Given the description of an element on the screen output the (x, y) to click on. 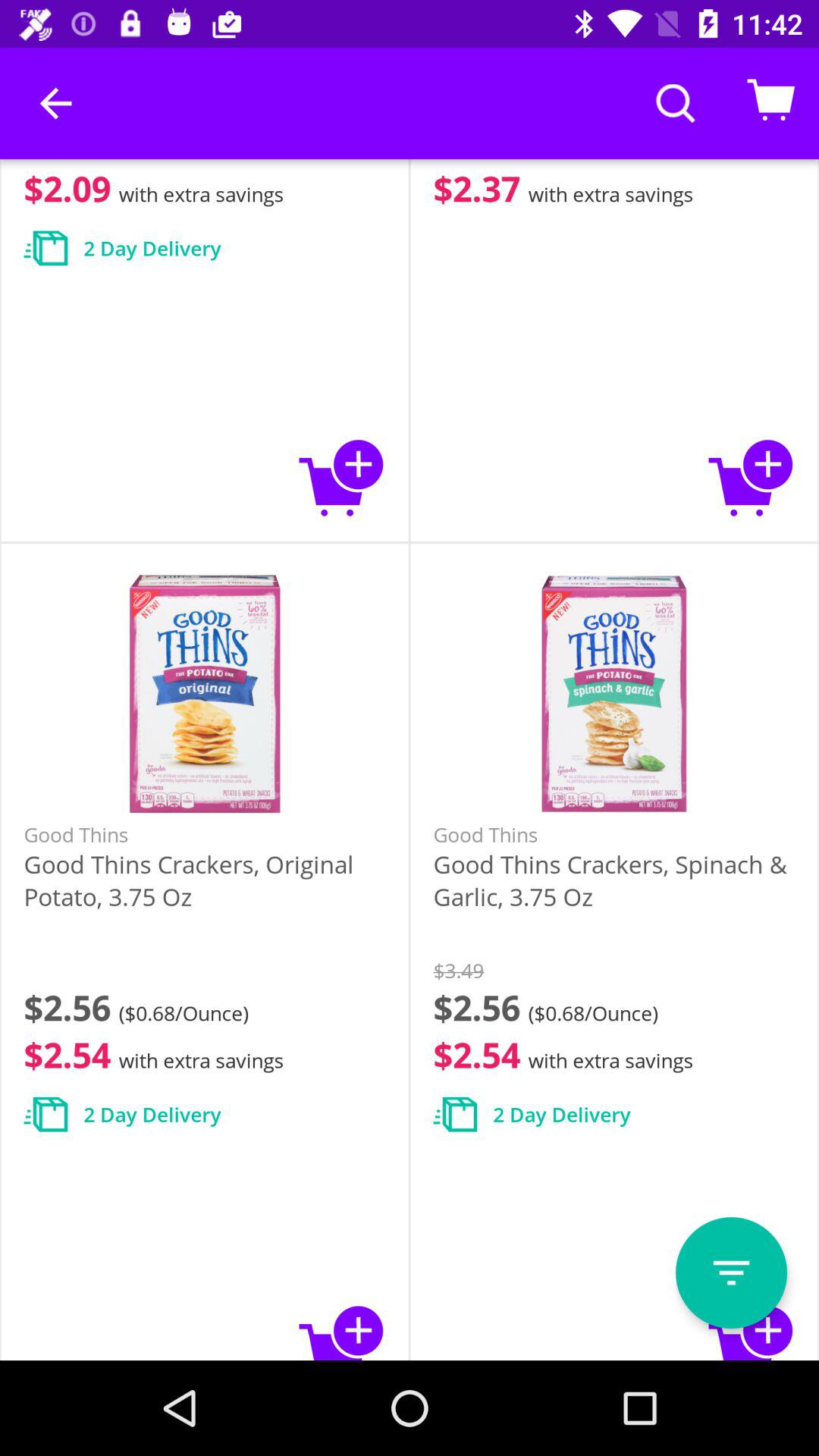
add to cart (342, 477)
